Given the description of an element on the screen output the (x, y) to click on. 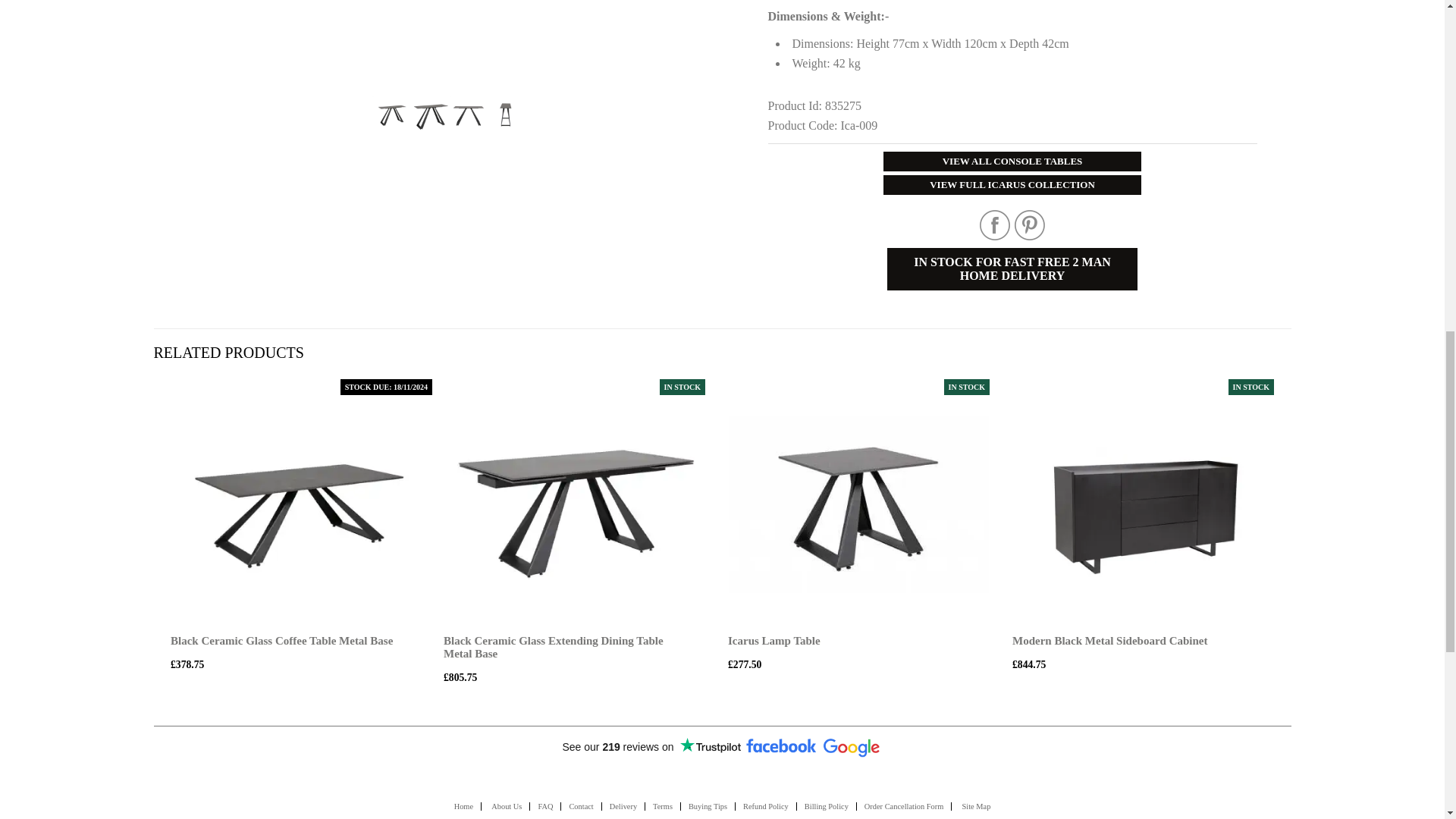
Modern Ceramic Glass Console Table Black Metal Base (390, 114)
Modern Ceramic Glass Console Table Black Metal Base (448, 27)
